Given the description of an element on the screen output the (x, y) to click on. 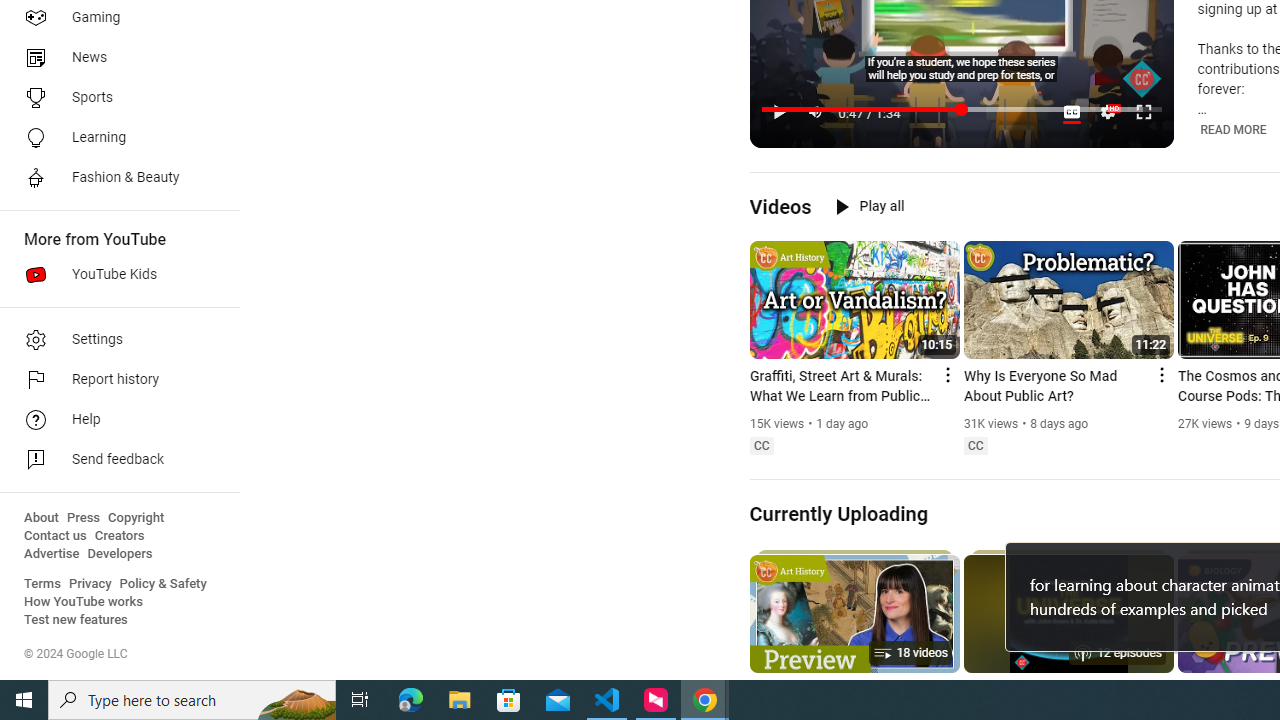
Send feedback (113, 459)
Channel watermark (1141, 79)
READ MORE (1233, 129)
Press (83, 518)
Policy & Safety (163, 584)
Action menu (1160, 374)
Pause (k) (779, 112)
Copyright (136, 518)
Advertise (51, 554)
Contact us (55, 536)
Test new features (76, 620)
